Given the description of an element on the screen output the (x, y) to click on. 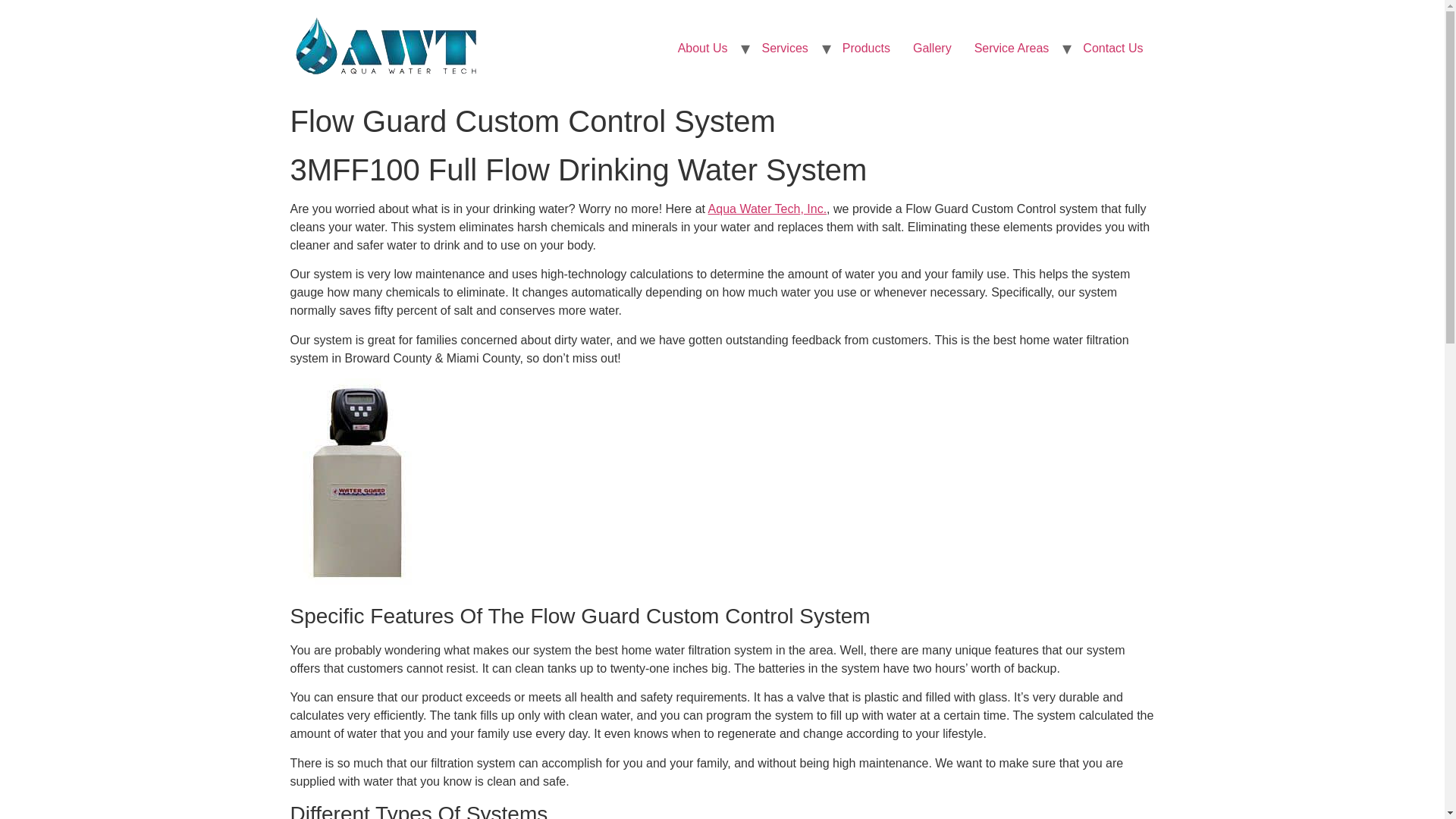
Service Areas (1011, 48)
Aqua Water Tech (753, 208)
Gallery (931, 48)
, Inc. (813, 208)
Services (783, 48)
About Us (702, 48)
Contact Us (1112, 48)
Products (866, 48)
